Given the description of an element on the screen output the (x, y) to click on. 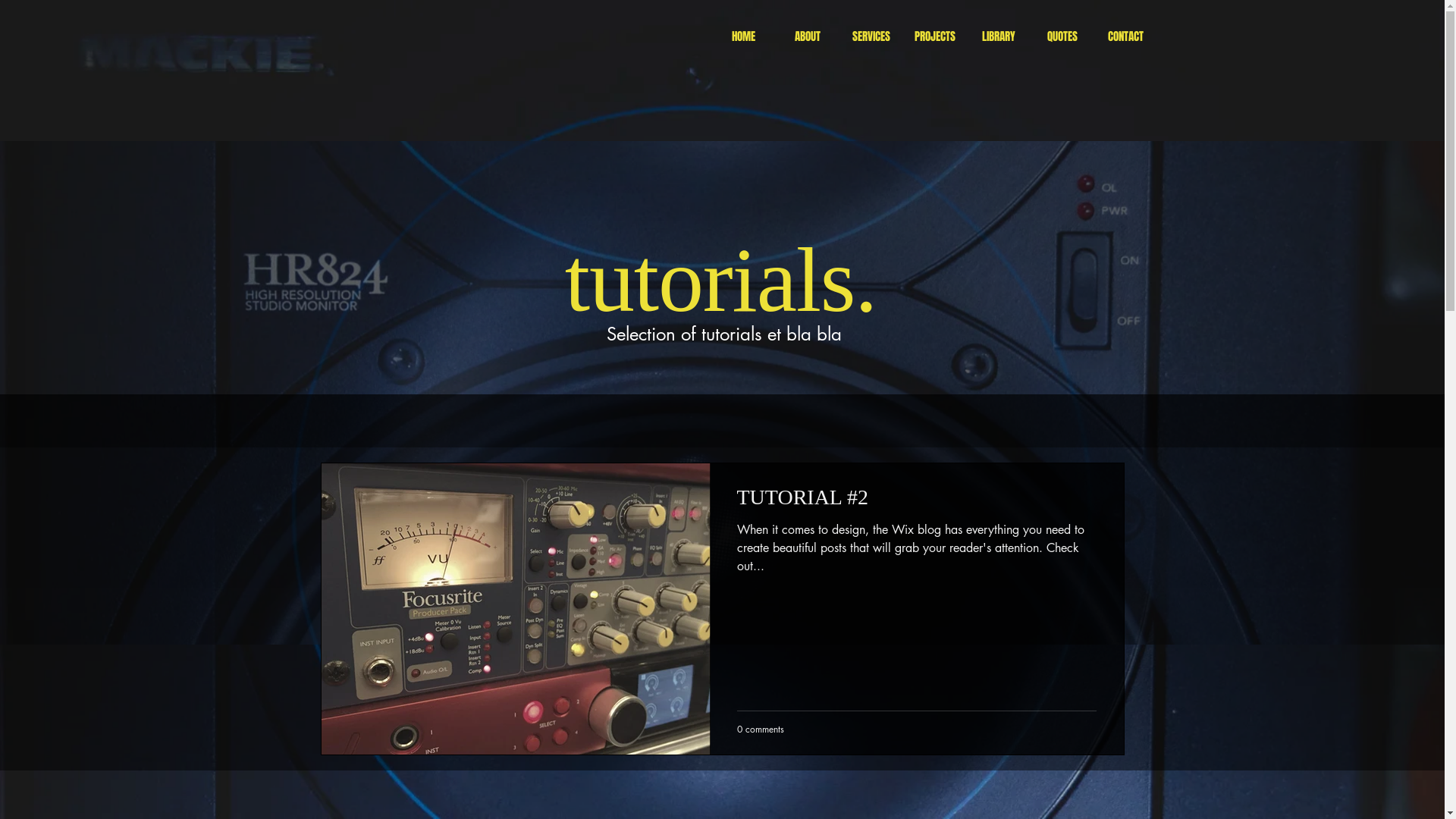
0 comments Element type: text (760, 728)
ABOUT Element type: text (806, 36)
SERVICES Element type: text (870, 36)
CONTACT Element type: text (1125, 36)
HOME Element type: text (743, 36)
LIBRARY Element type: text (997, 36)
QUOTES Element type: text (1061, 36)
PROJECTS Element type: text (934, 36)
TUTORIAL #2 Element type: text (916, 500)
